Given the description of an element on the screen output the (x, y) to click on. 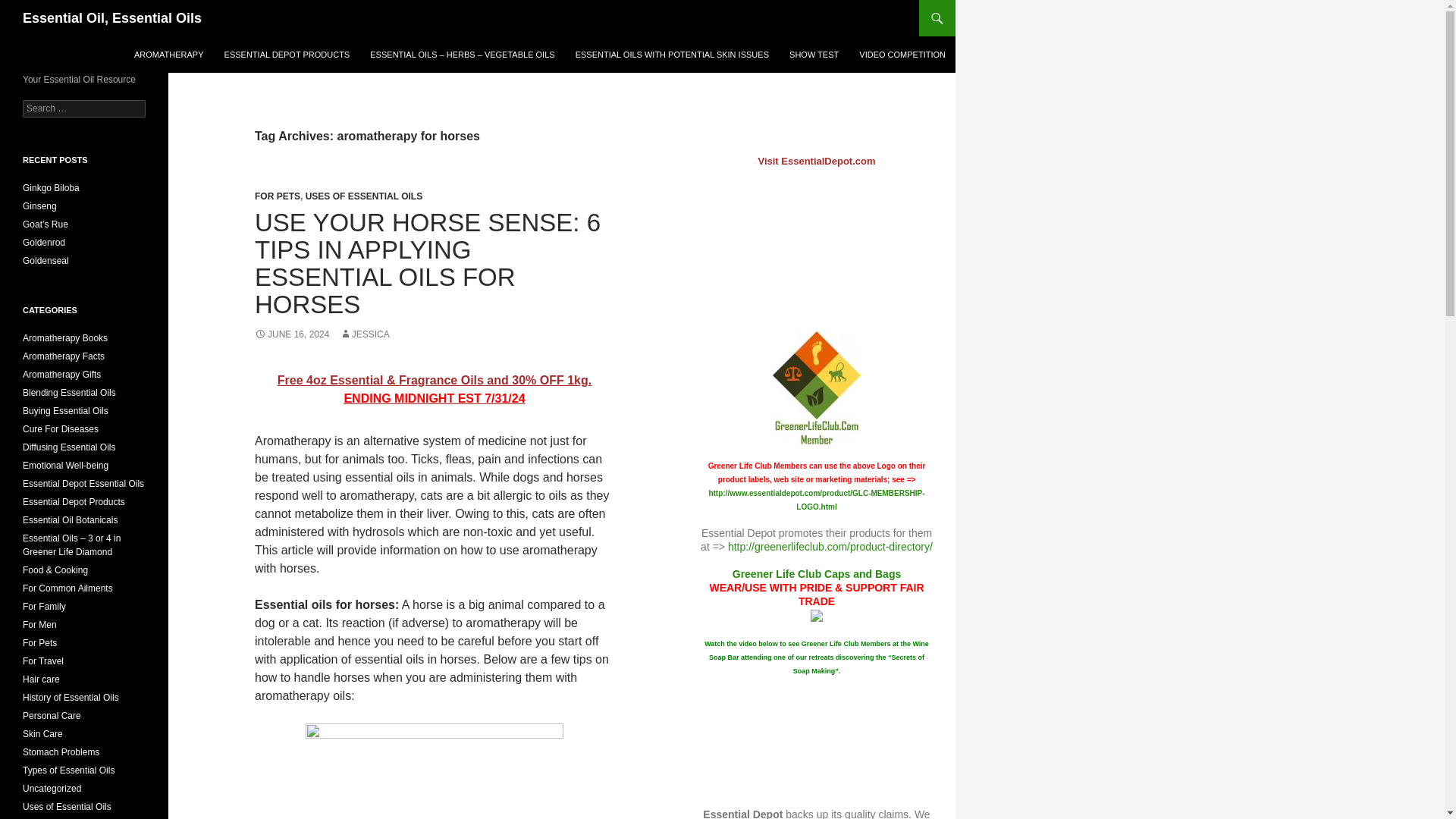
JESSICA (364, 334)
Buying Essential Oils (65, 410)
USES OF ESSENTIAL OILS (363, 195)
Goldenseal (45, 260)
VIDEO COMPETITION (902, 54)
Ginseng (39, 205)
Essential Oil, Essential Oils (112, 18)
Aromatherapy Books (65, 337)
Aromatherapy Gifts (61, 374)
Visit EssentialDepot.com (816, 160)
FOR PETS (276, 195)
Ginkgo Biloba (51, 187)
ESSENTIAL DEPOT PRODUCTS (287, 54)
